Given the description of an element on the screen output the (x, y) to click on. 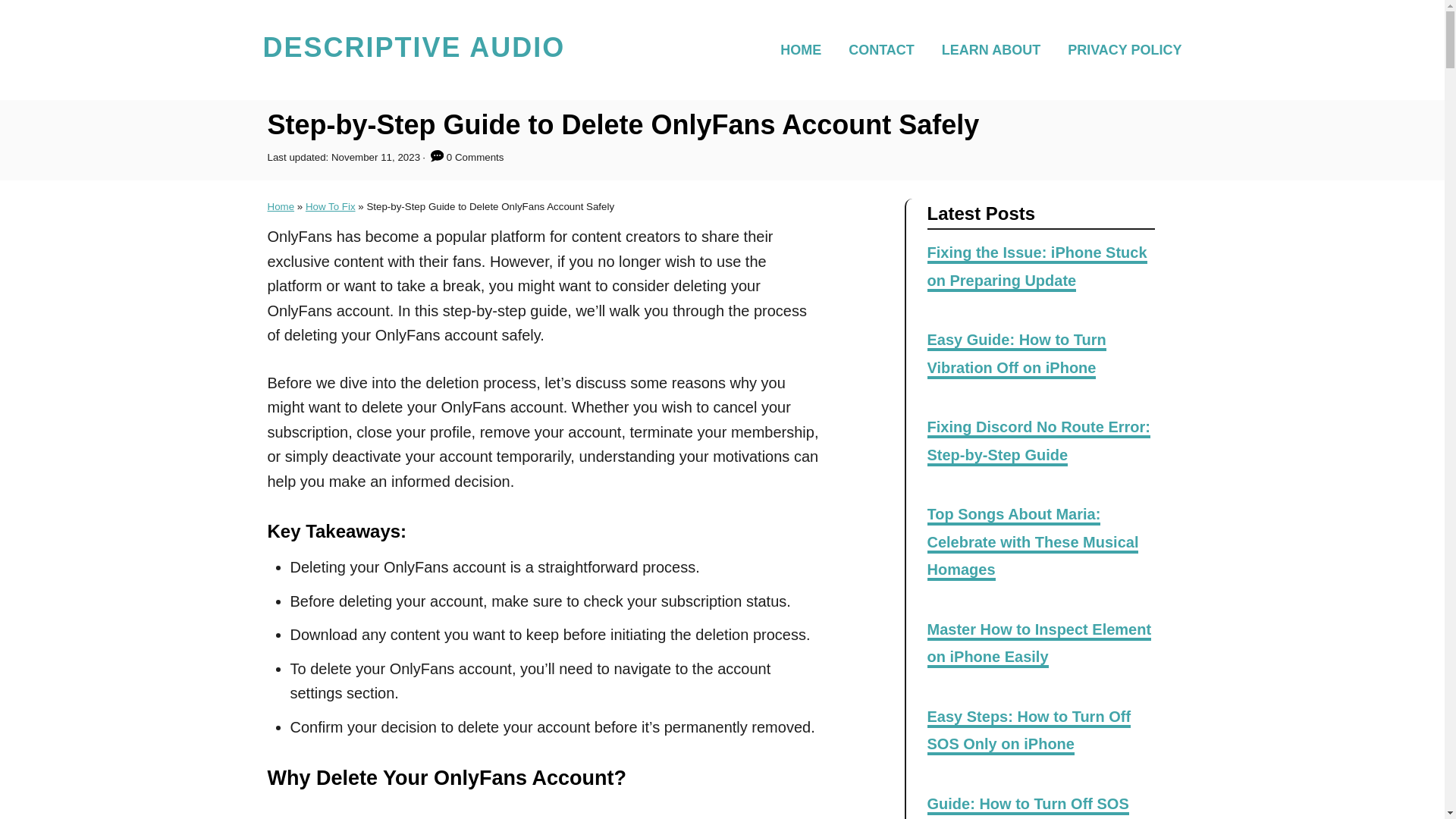
Fixing Discord No Route Error: Step-by-Step Guide (1038, 442)
CONTACT (886, 49)
LEARN ABOUT (995, 49)
Descriptive Audio (413, 49)
Master How to Inspect Element on iPhone Easily (1038, 644)
PRIVACY POLICY (1119, 49)
Fixing the Issue: iPhone Stuck on Preparing Update (1036, 267)
Easy Steps: How to Turn Off SOS Only on iPhone (1028, 731)
DESCRIPTIVE AUDIO (413, 49)
How To Fix (330, 206)
